Given the description of an element on the screen output the (x, y) to click on. 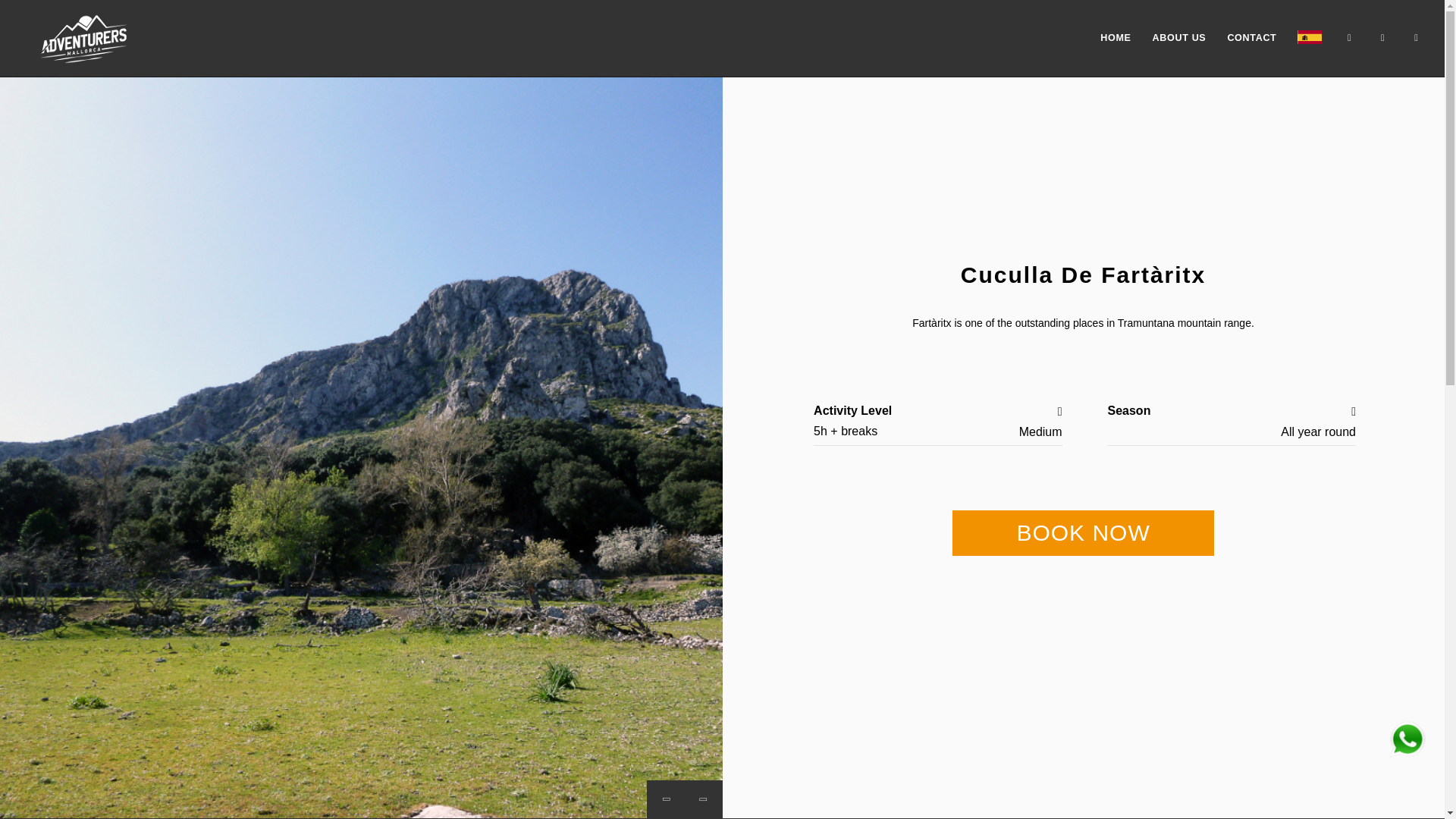
ABOUT US (1180, 53)
HOME (1115, 53)
BOOK NOW (1083, 533)
Outdoor activities in Mallorca, Spain. (1309, 37)
CONTACT (1251, 53)
